Given the description of an element on the screen output the (x, y) to click on. 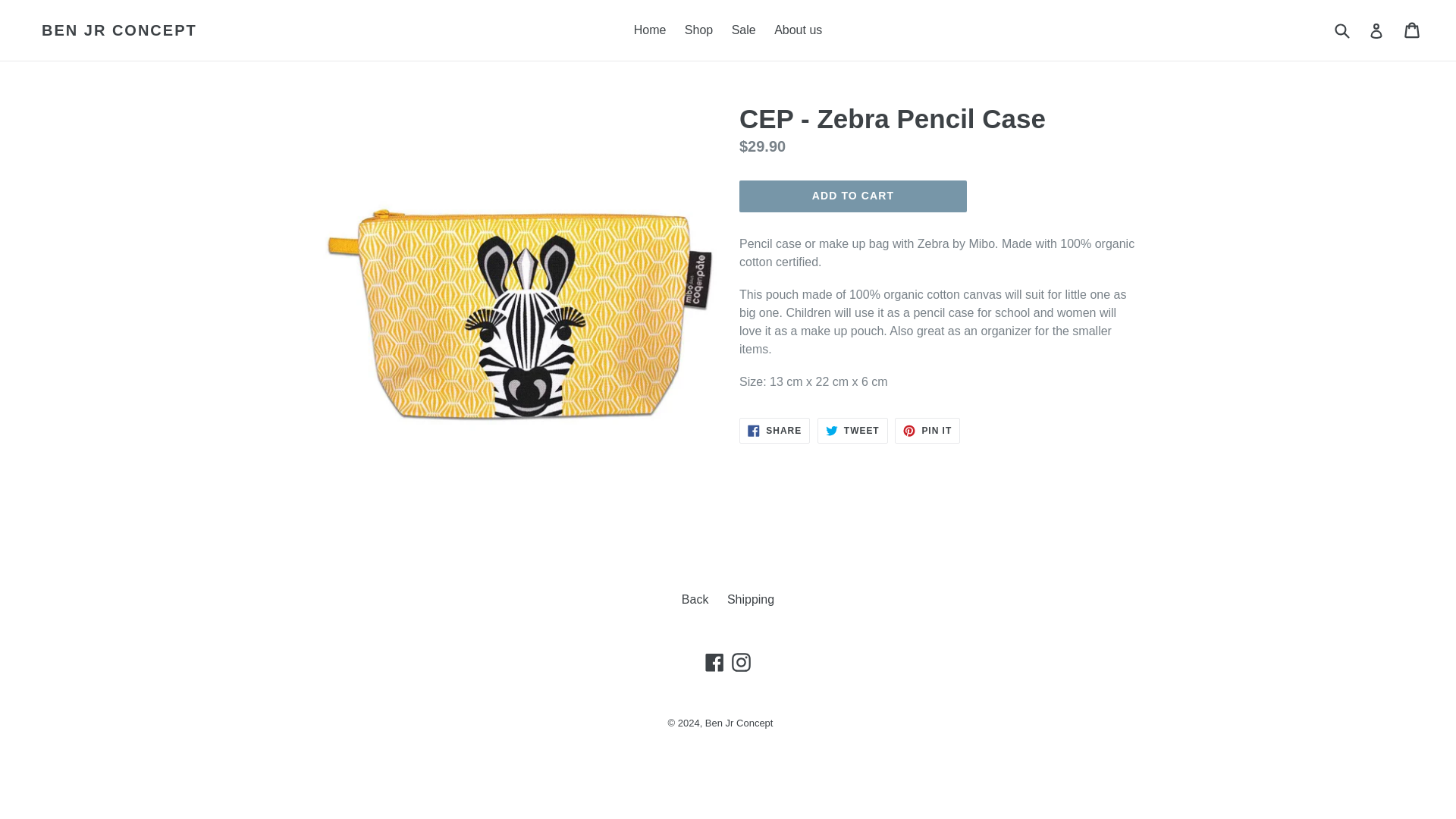
Home (774, 430)
About us (650, 29)
Share on Facebook (798, 29)
Shipping (774, 430)
Shop (750, 599)
Facebook (698, 29)
Pin on Pinterest (714, 661)
Ben Jr Concept (927, 430)
Tweet on Twitter (738, 722)
Sale (852, 430)
Ben Jr Concept on Instagram (927, 430)
BEN JR CONCEPT (742, 29)
Instagram (740, 661)
